Given the description of an element on the screen output the (x, y) to click on. 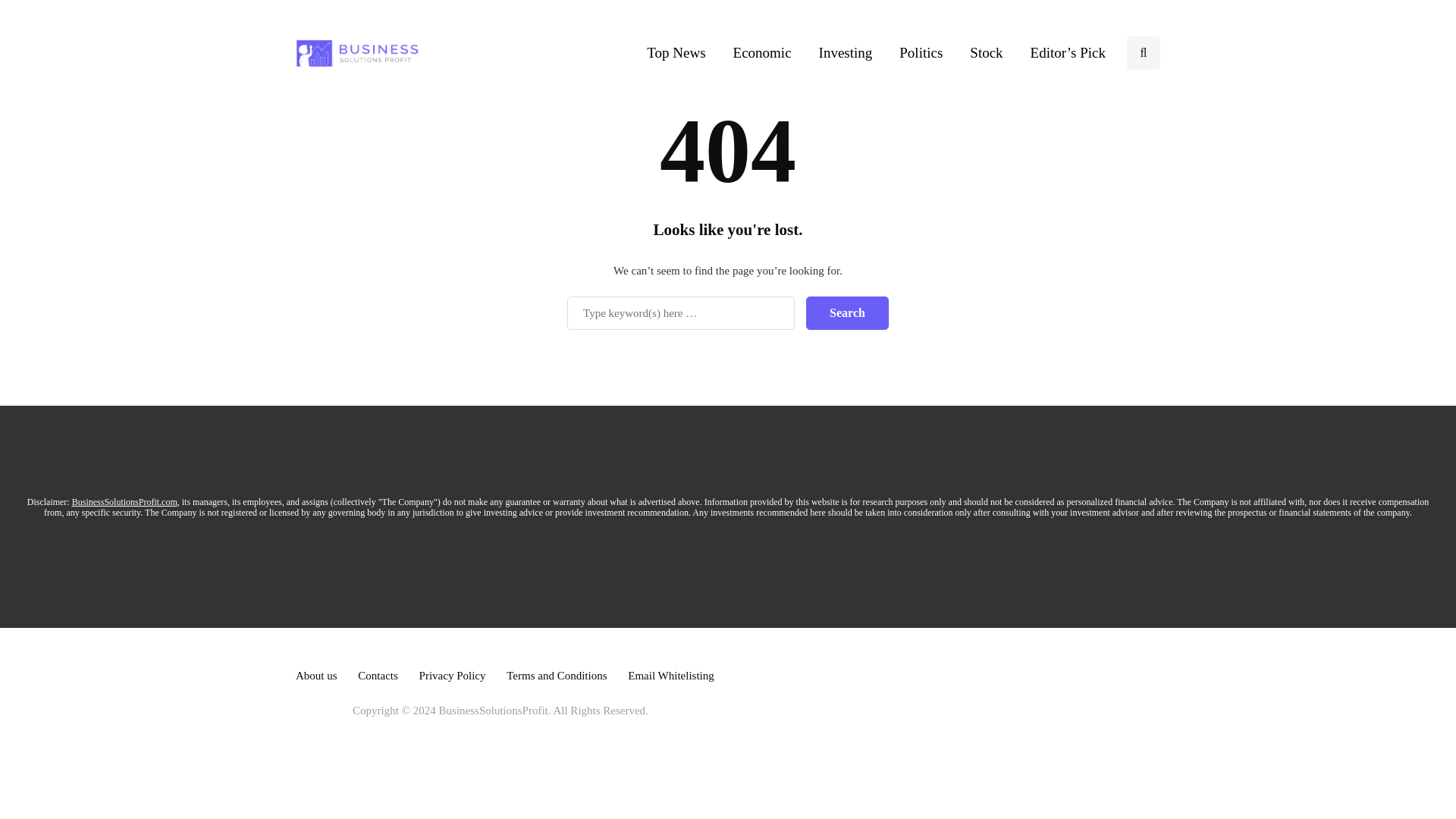
About us (316, 674)
Economic (762, 52)
Privacy Policy (452, 674)
Top News (676, 52)
Investing (845, 52)
Search (847, 312)
Email Whitelisting (670, 674)
Contacts (377, 674)
BusinessSolutionsProfit.com (124, 501)
Stock (986, 52)
Terms and Conditions (556, 674)
Politics (920, 52)
Search (847, 312)
